Given the description of an element on the screen output the (x, y) to click on. 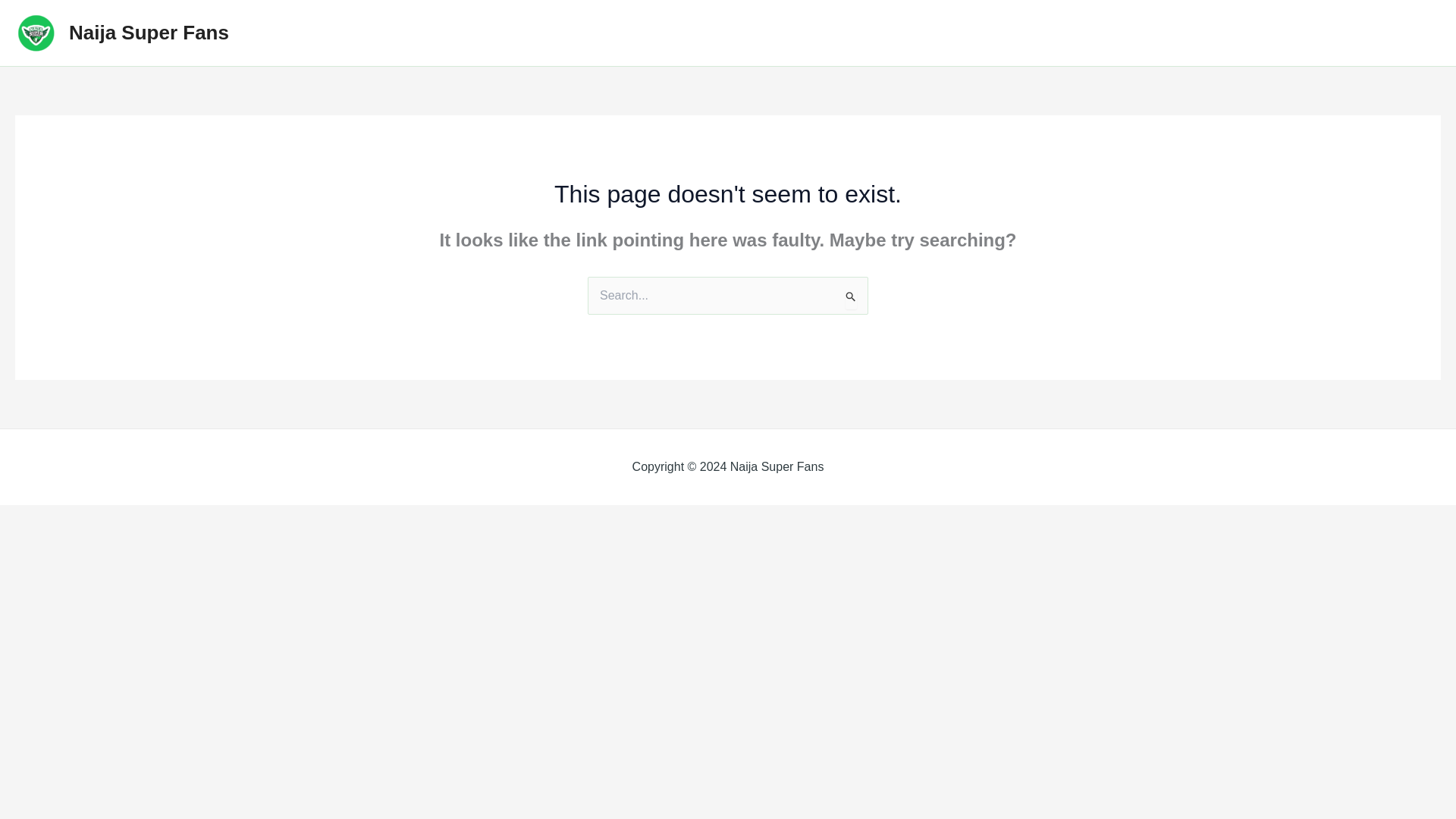
Naija Super Fans (148, 32)
